Given the description of an element on the screen output the (x, y) to click on. 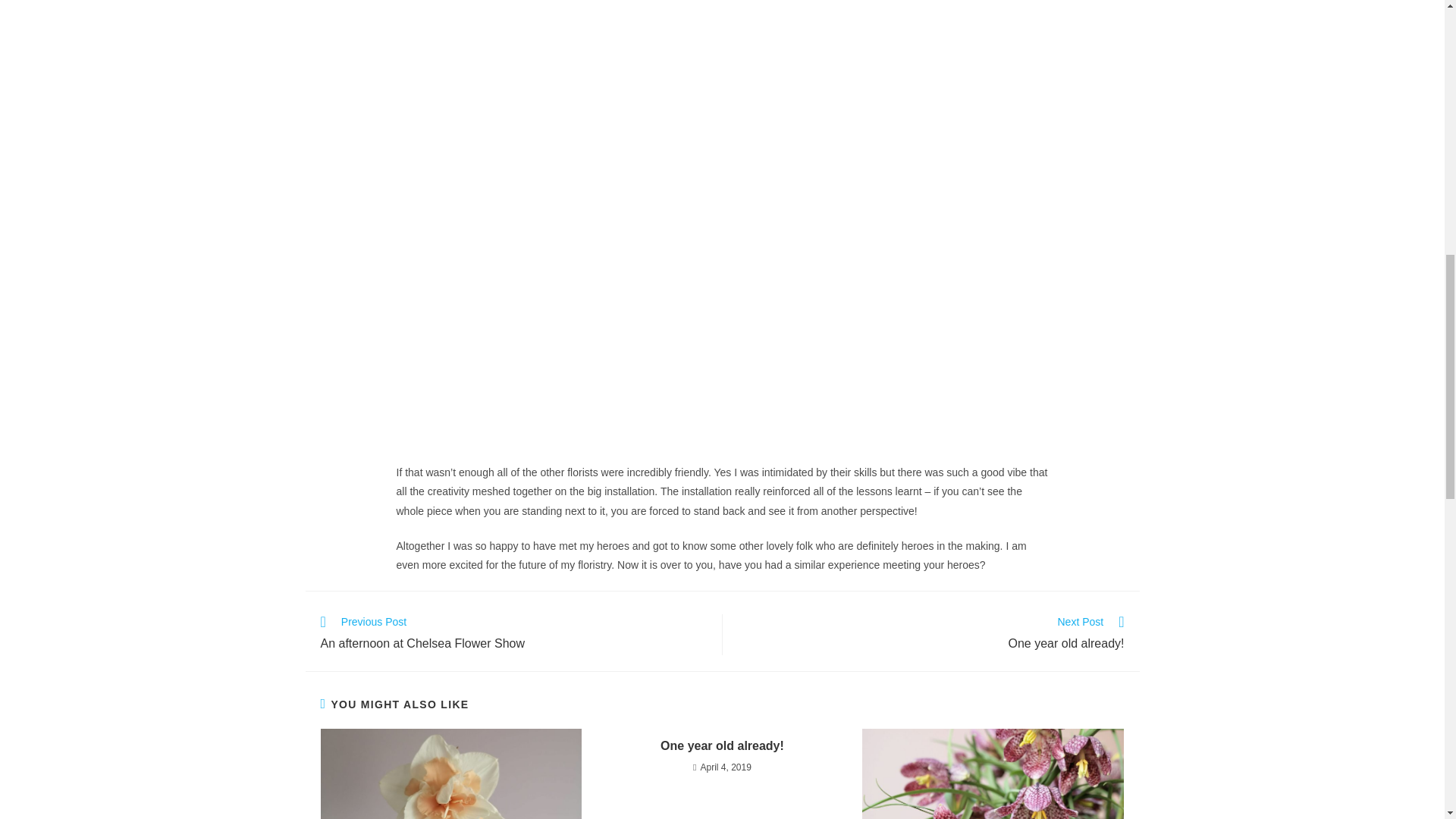
One year old already! (930, 634)
